Given the description of an element on the screen output the (x, y) to click on. 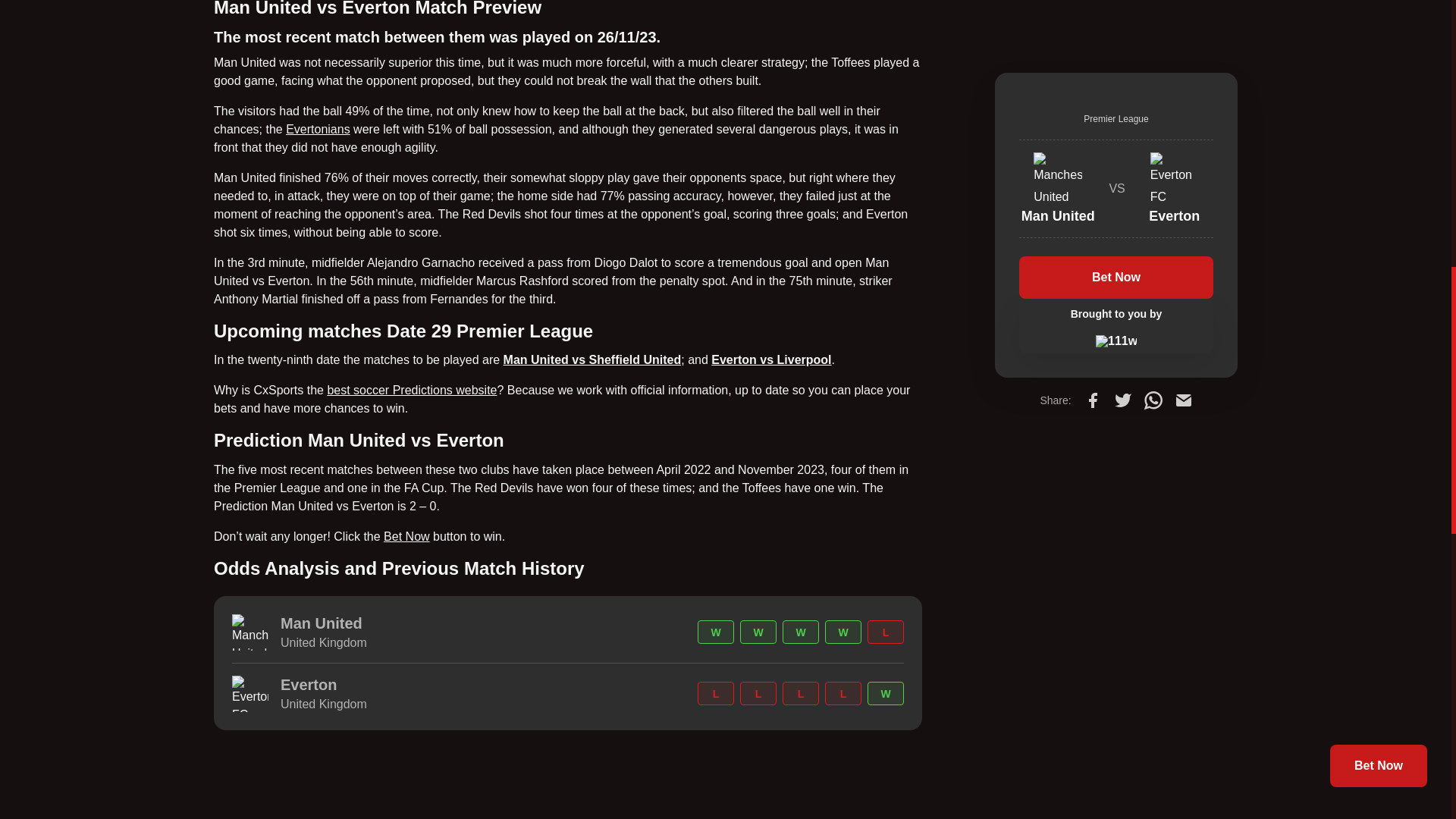
Brighton vs Everton Prediction and Odds Date 26 (317, 128)
best soccer Predictions website (411, 390)
Man United vs Sheffield United predictions (592, 359)
Everton vs Liverpool odds (771, 359)
